Given the description of an element on the screen output the (x, y) to click on. 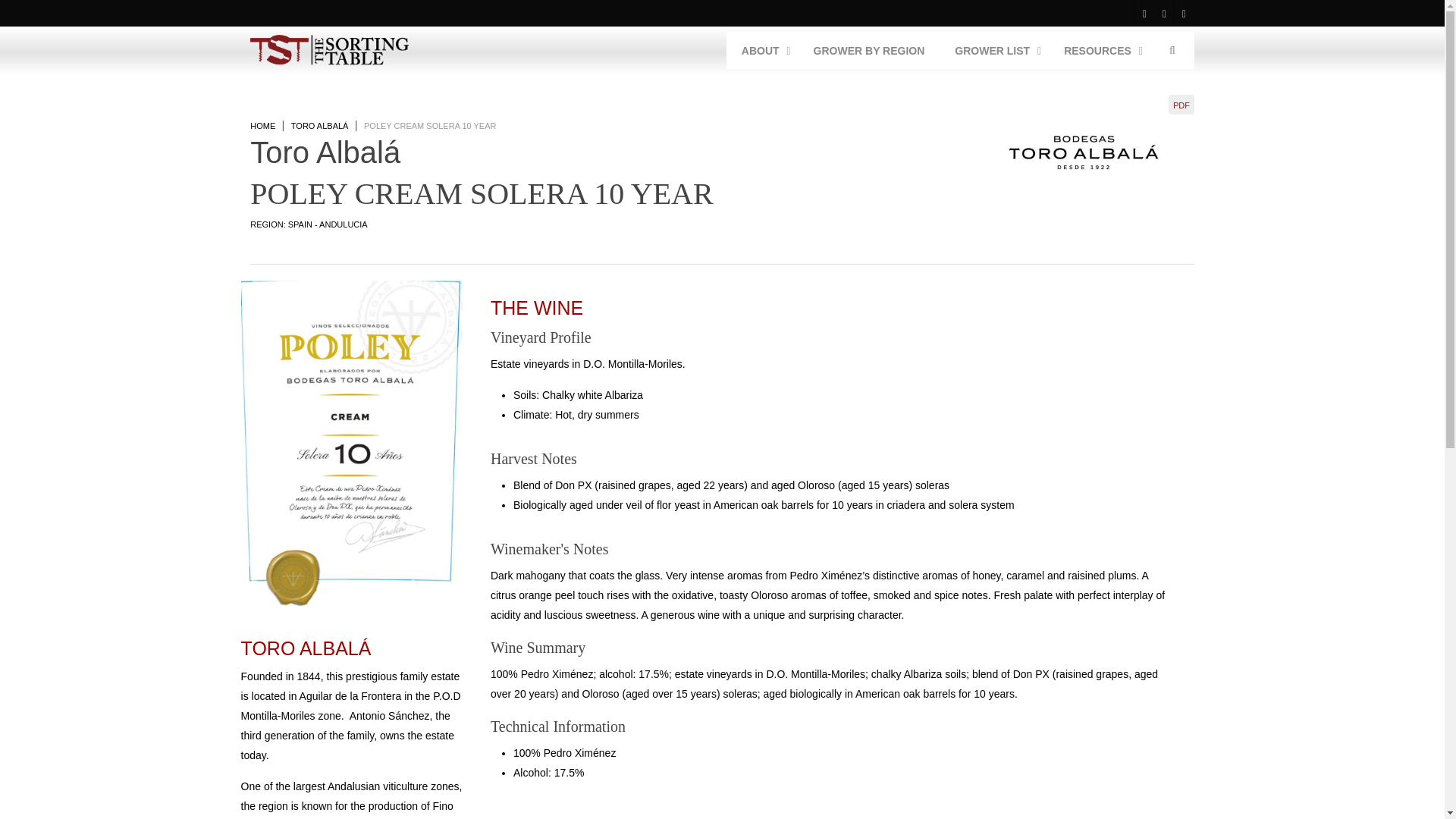
GROWER LIST (993, 49)
GROWER BY REGION (959, 49)
ABOUT (868, 49)
